Given the description of an element on the screen output the (x, y) to click on. 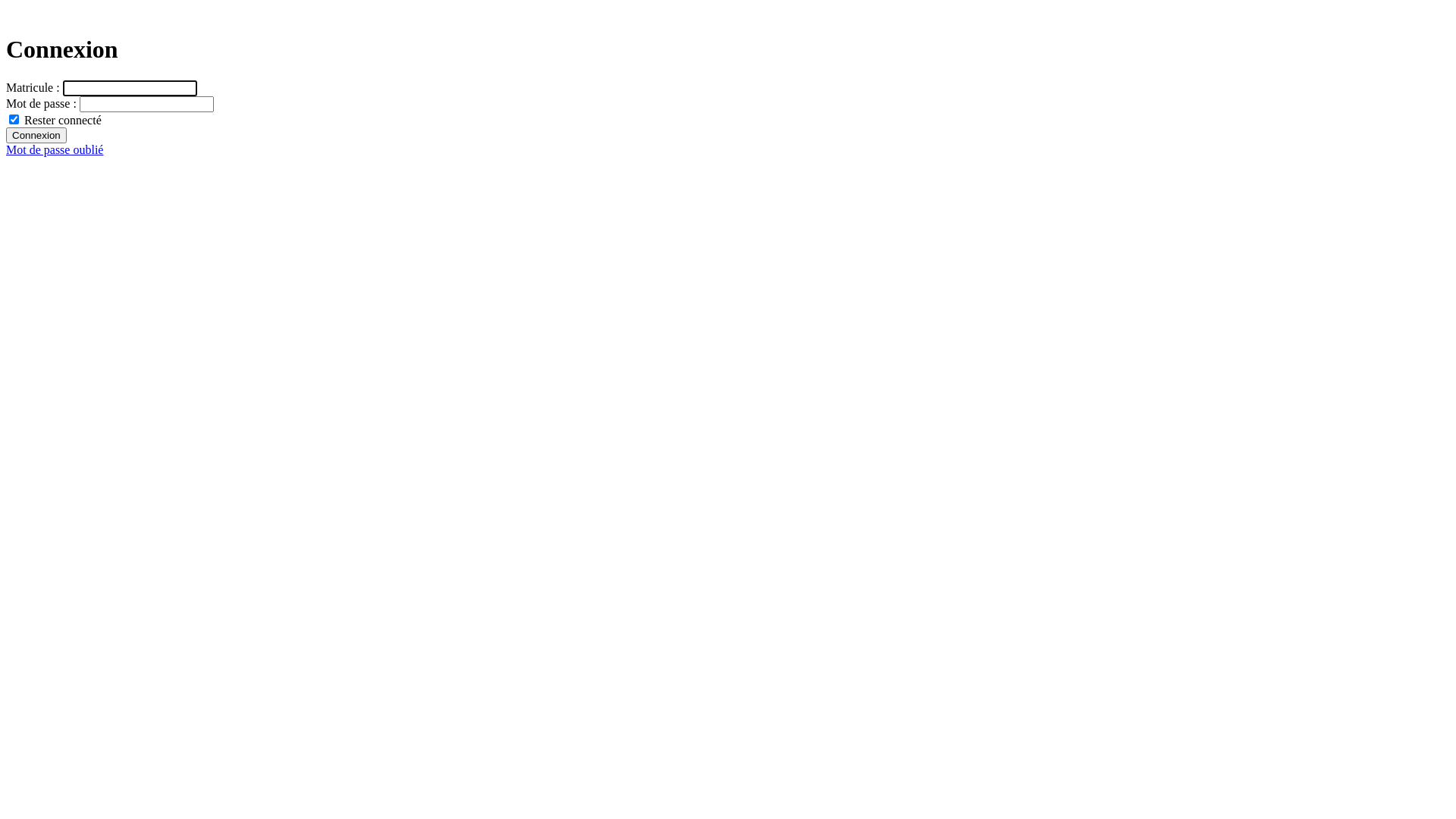
Connexion Element type: text (36, 135)
